Given the description of an element on the screen output the (x, y) to click on. 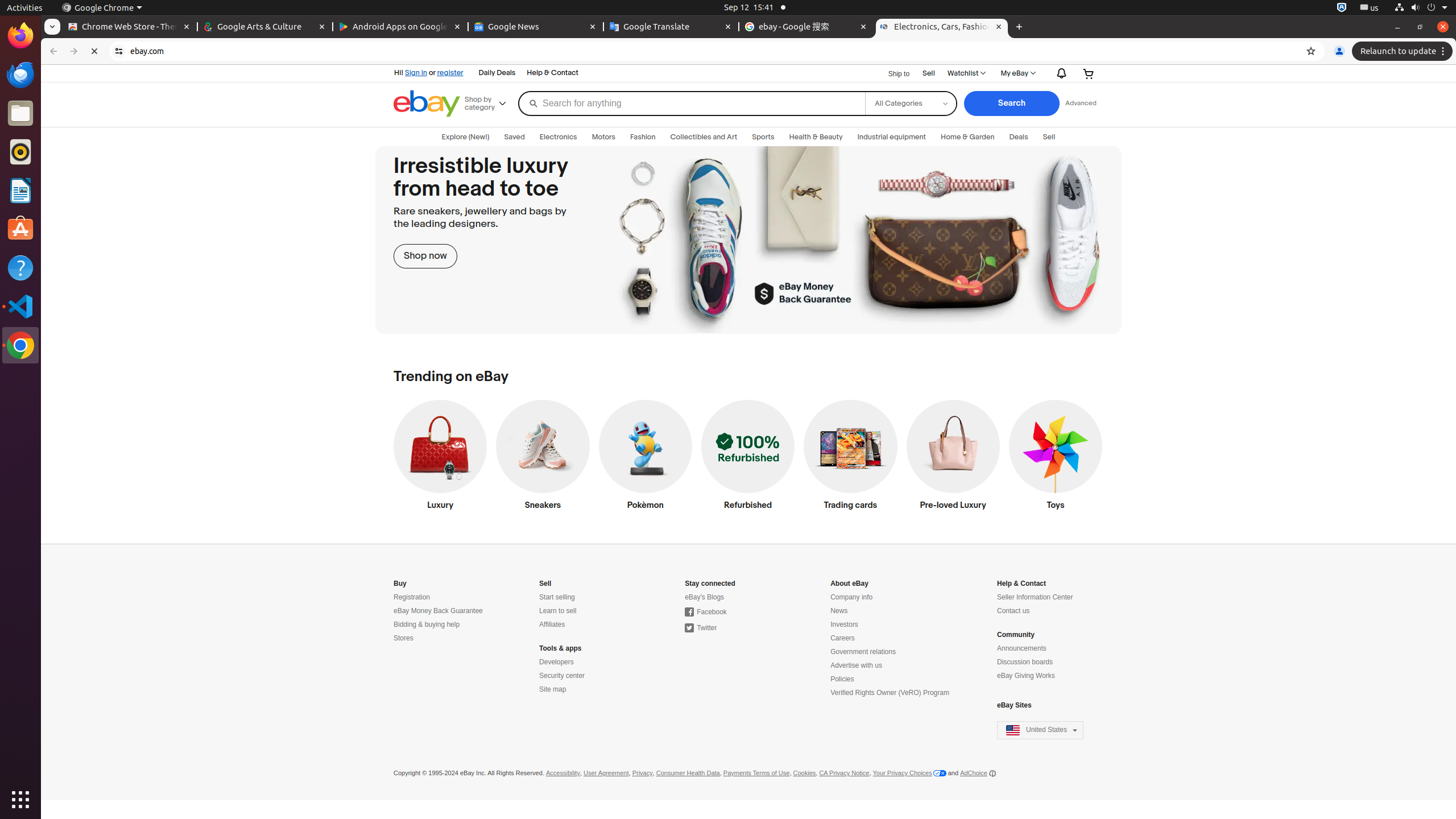
Careers Element type: link (842, 638)
Ship to Element type: push-button (891, 73)
Google Chrome Element type: menu (101, 7)
Show Applications Element type: toggle-button (20, 799)
Search Element type: push-button (1011, 103)
